Given the description of an element on the screen output the (x, y) to click on. 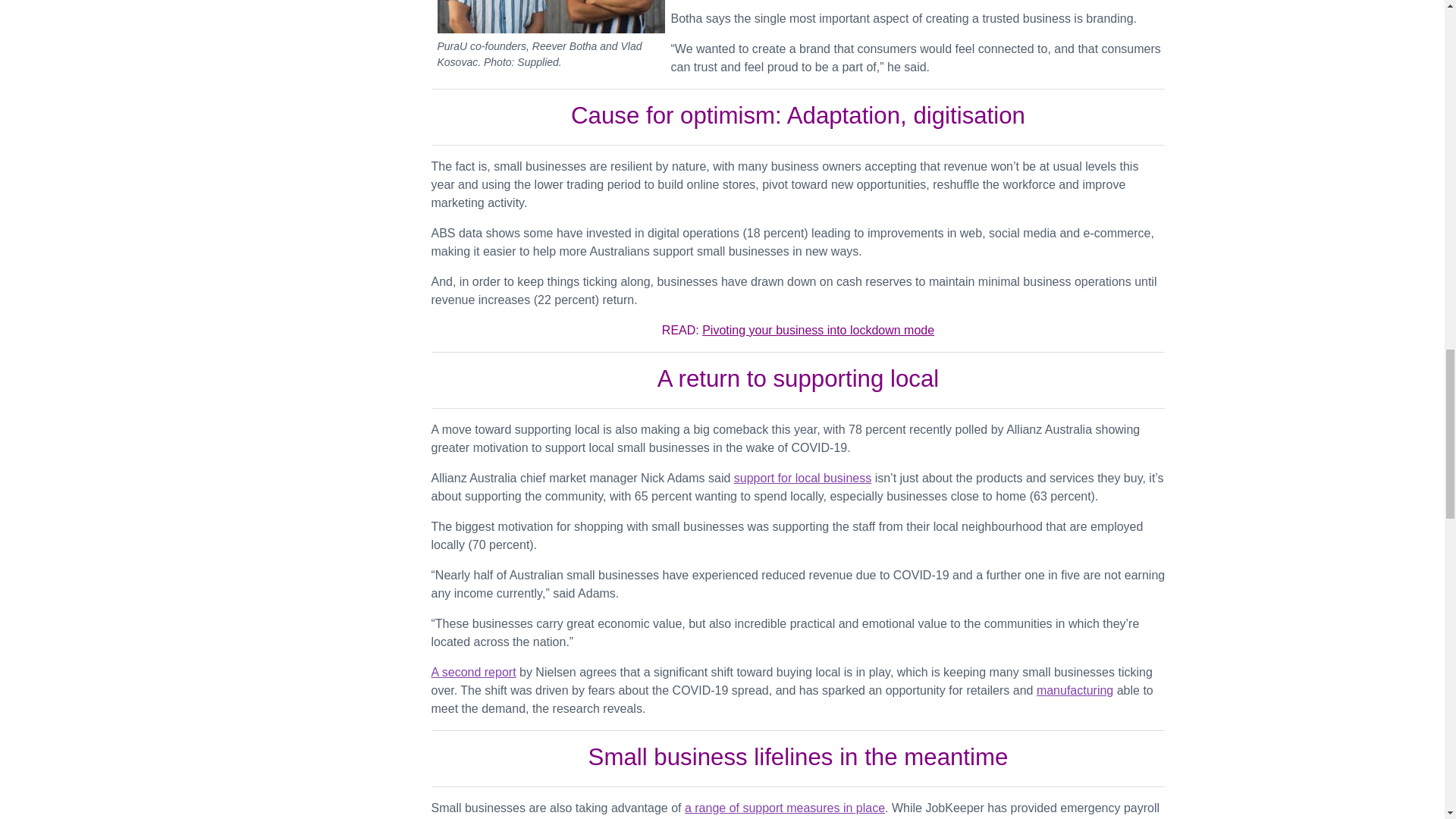
manufacturing (1074, 689)
Pivoting your business into lockdown mode (817, 329)
A second report (472, 671)
support for local business (801, 477)
a range of support measures in place (784, 807)
